Given the description of an element on the screen output the (x, y) to click on. 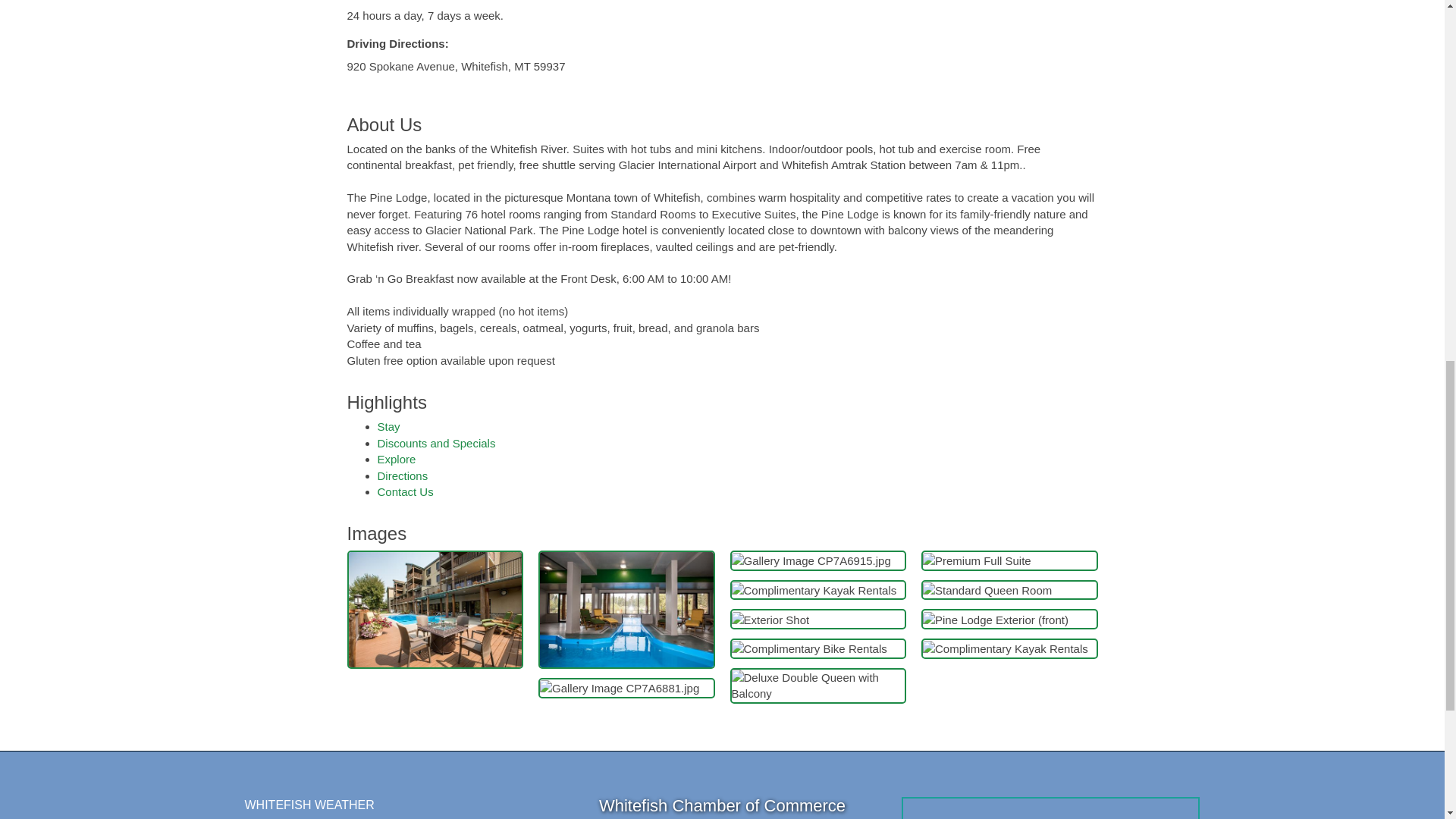
Outdoor Pool and Fire Pits (435, 609)
Indoor Pool (626, 609)
Complimentary Kayak Rentals (813, 590)
Gallery Image CP7A6881.jpg (619, 688)
Gallery Image CP7A6915.jpg (809, 560)
Exterior Shot (769, 619)
